Given the description of an element on the screen output the (x, y) to click on. 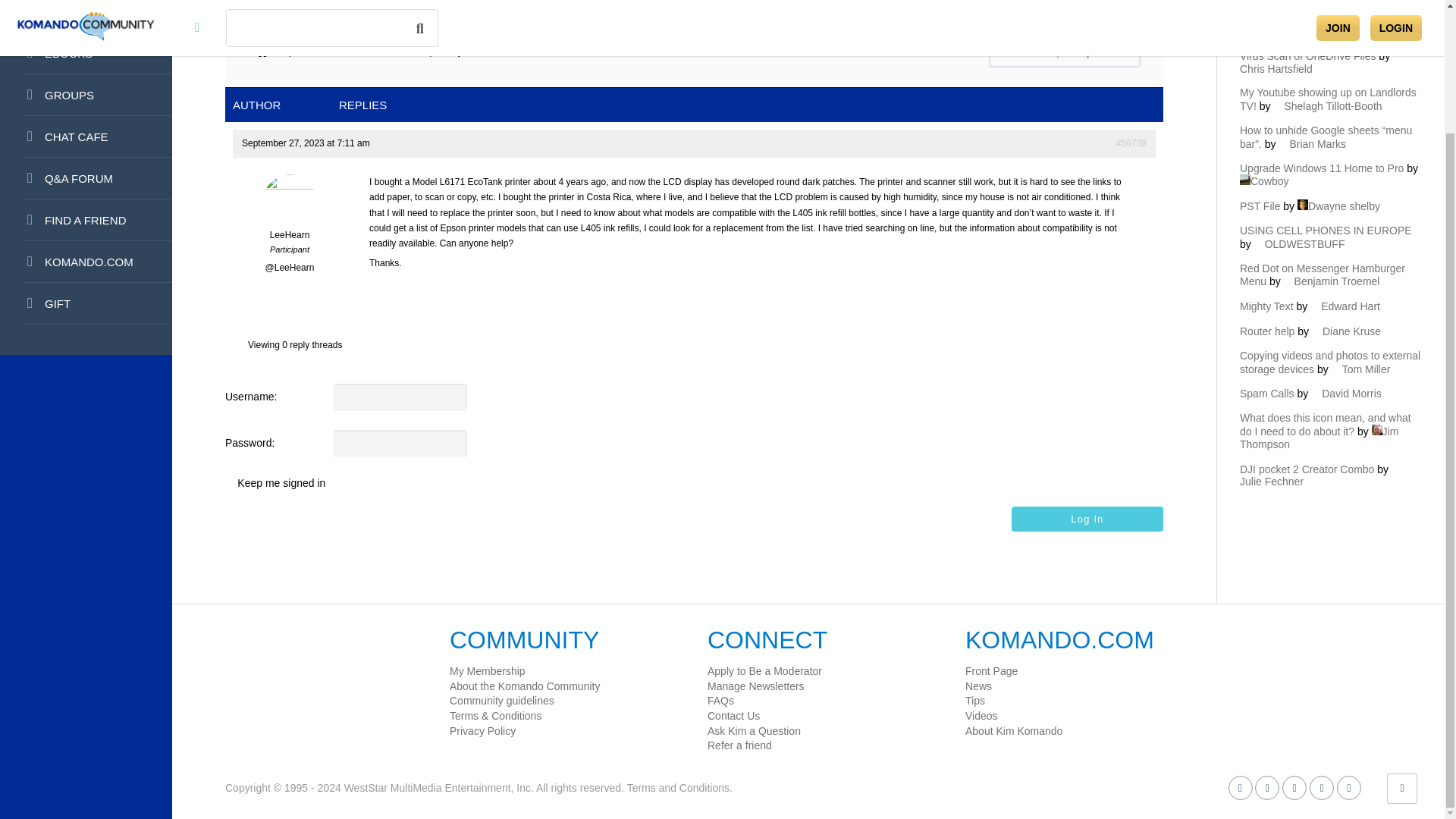
View Benjamin Troemel's profile (1332, 281)
GROUPS (85, 95)
View 2westieluver's profile (1329, 24)
View Dwayne shelby's profile (1338, 205)
View Cowboy's profile (1264, 181)
View Chris Hartsfield's profile (1321, 62)
View Tom Miller's profile (1361, 369)
View Diane Kruse's profile (1345, 331)
Epson Ecotank ink compatibility (1131, 142)
View Shelagh Tillott-Booth's profile (1326, 105)
